Given the description of an element on the screen output the (x, y) to click on. 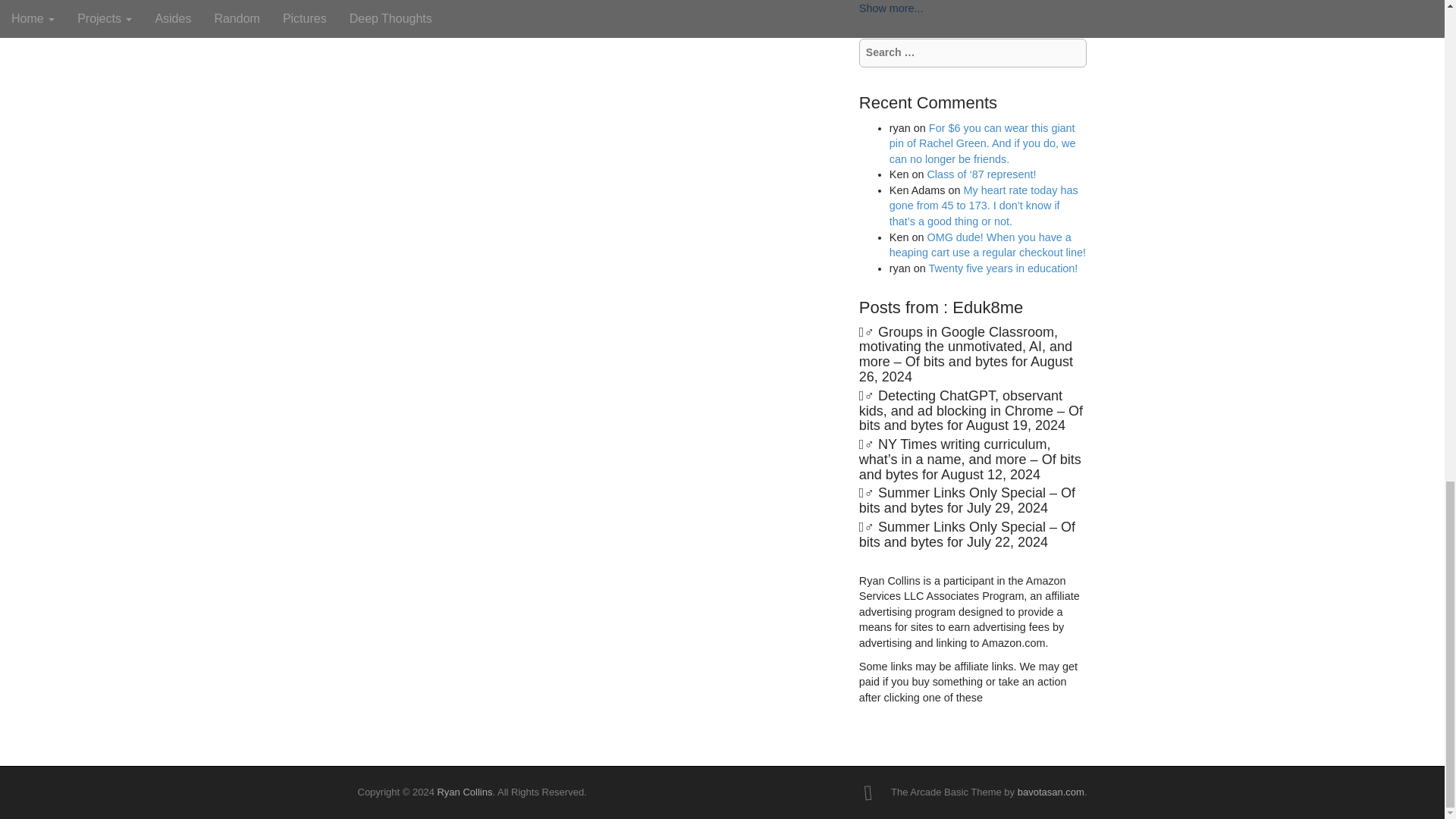
Twenty five years in education! (1003, 268)
Show more... (891, 8)
